Given the description of an element on the screen output the (x, y) to click on. 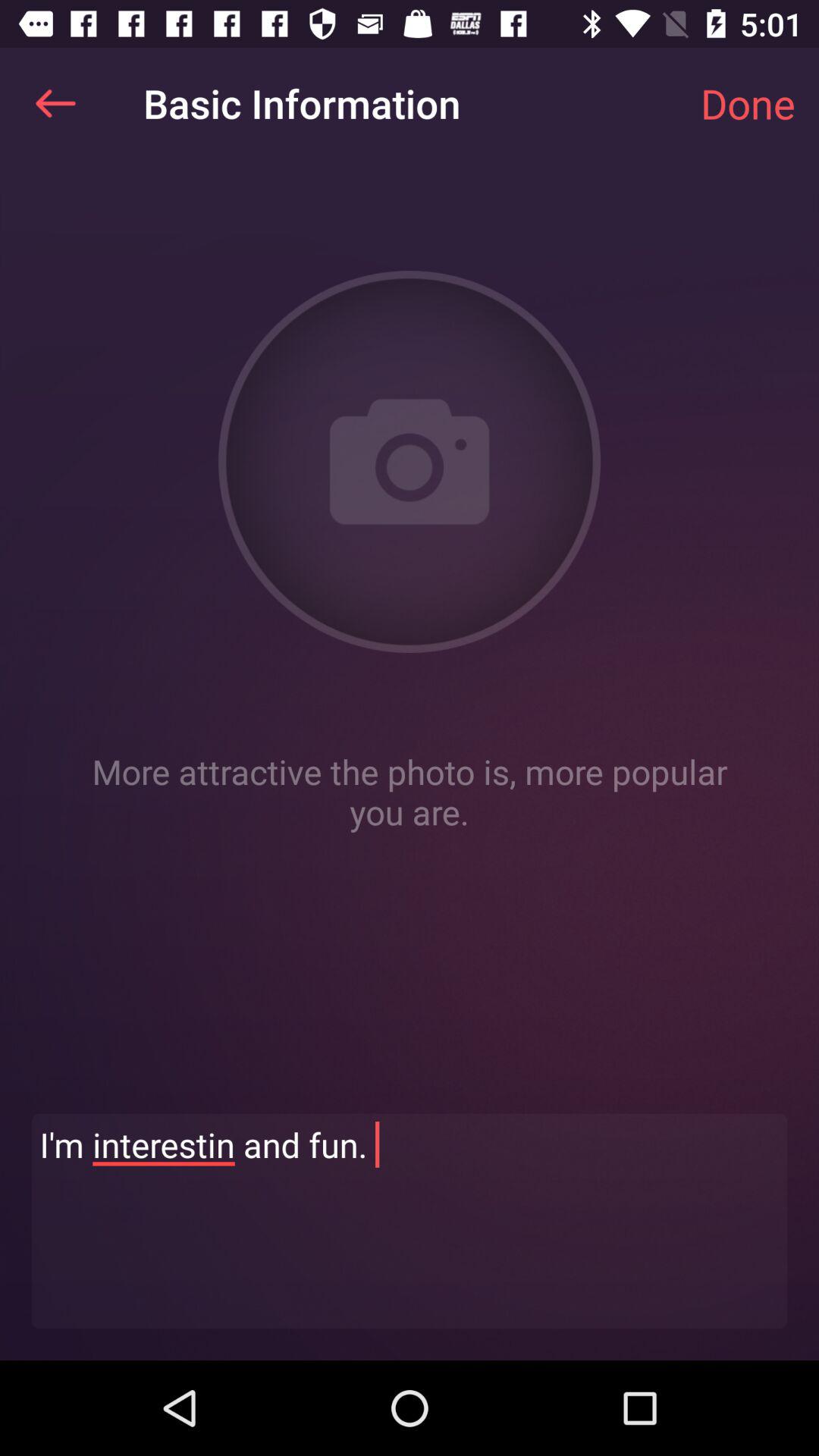
open camera (409, 461)
